Given the description of an element on the screen output the (x, y) to click on. 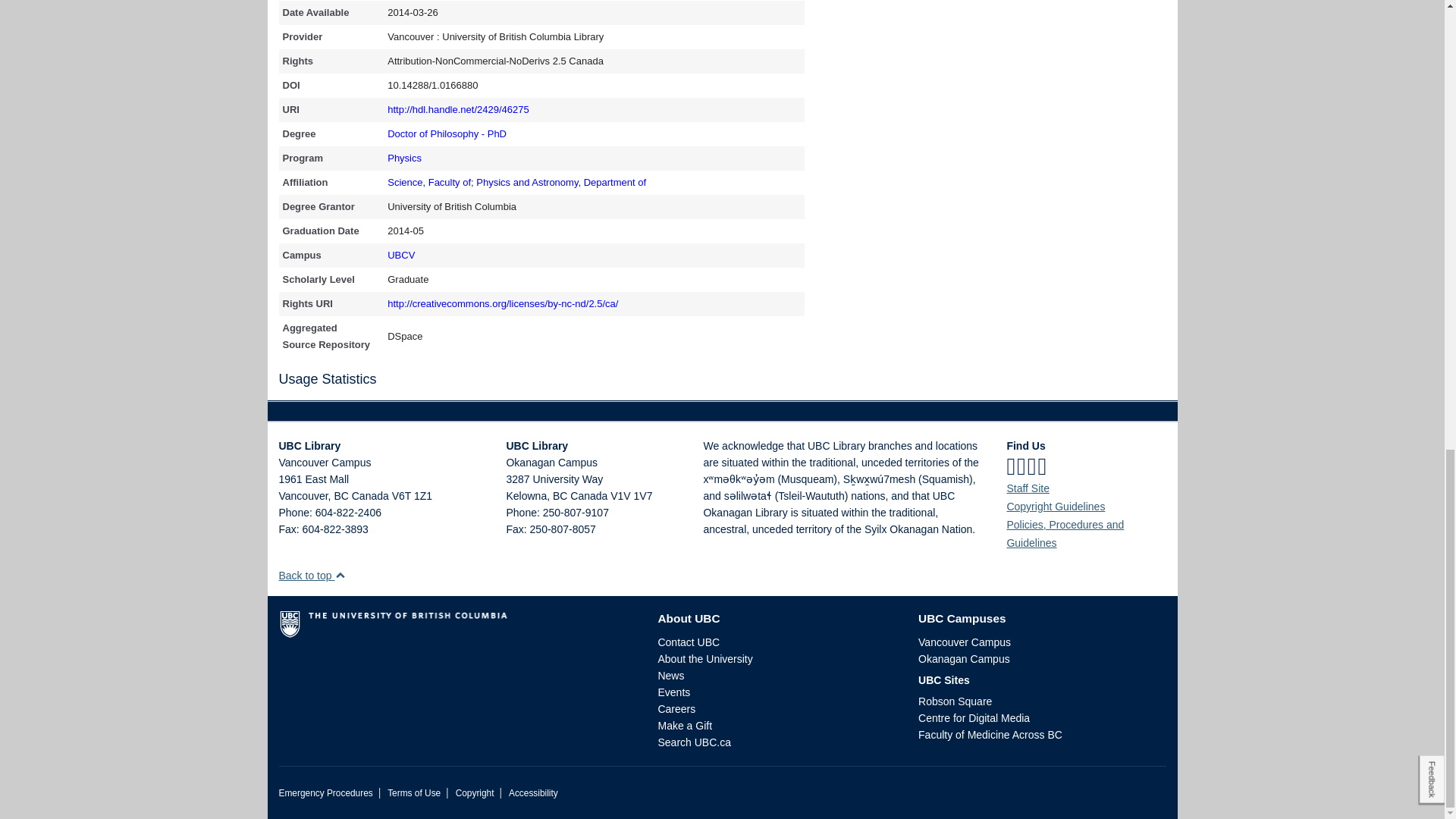
British Columbia (340, 495)
British Columbia (560, 495)
